Given the description of an element on the screen output the (x, y) to click on. 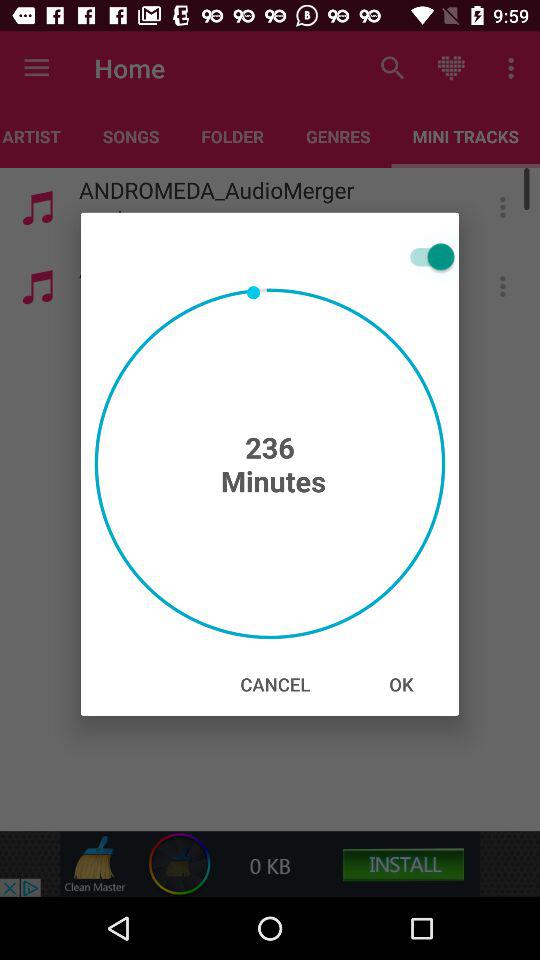
choose the icon at the top right corner (427, 256)
